Given the description of an element on the screen output the (x, y) to click on. 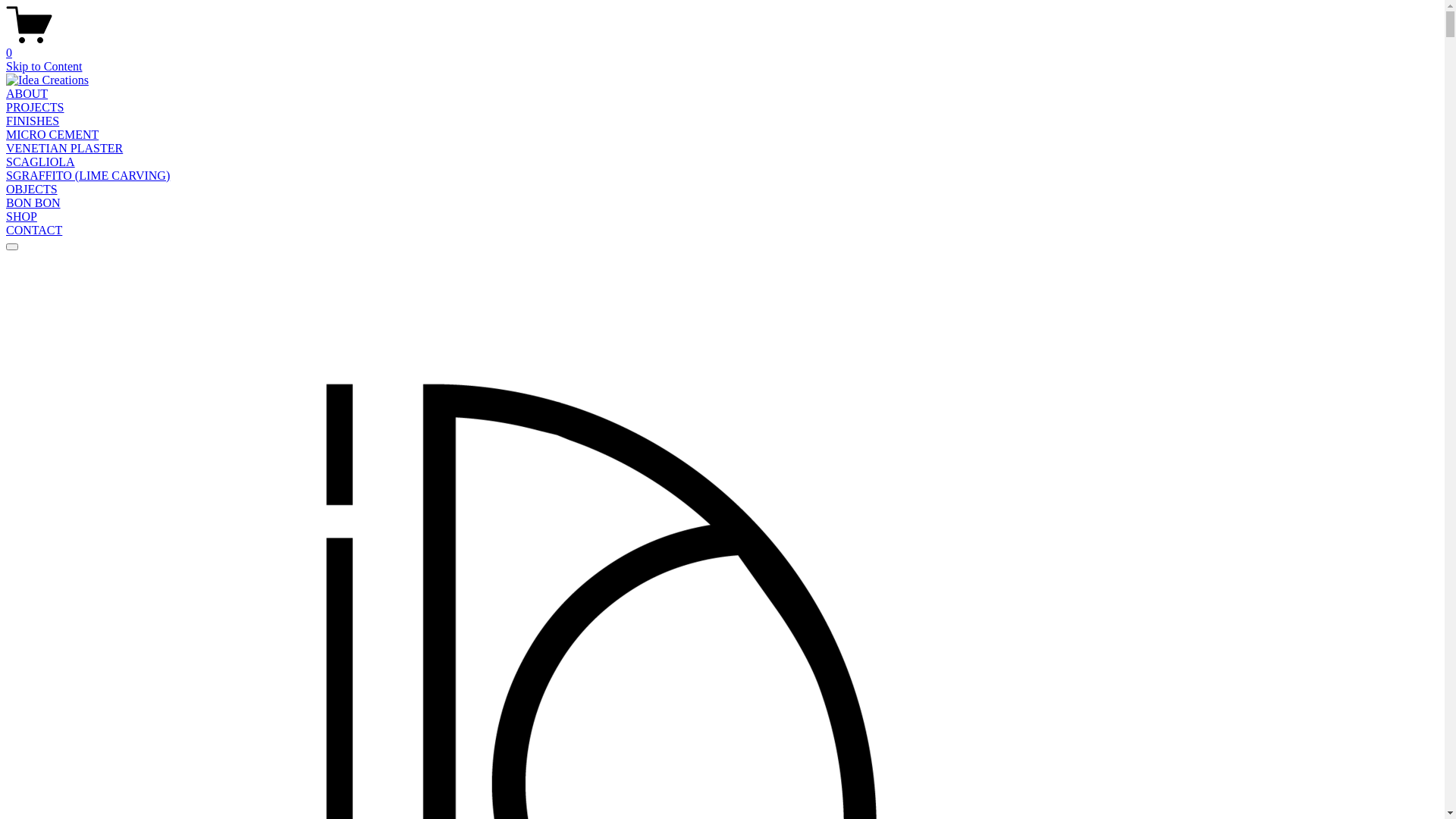
SHOP Element type: text (21, 216)
BON BON Element type: text (33, 202)
MICRO CEMENT Element type: text (52, 134)
0 Element type: text (722, 45)
FINISHES Element type: text (32, 120)
PROJECTS Element type: text (34, 106)
OBJECTS Element type: text (31, 188)
SGRAFFITO (LIME CARVING) Element type: text (87, 175)
VENETIAN PLASTER Element type: text (64, 147)
SCAGLIOLA Element type: text (40, 161)
ABOUT Element type: text (26, 93)
CONTACT Element type: text (34, 229)
Skip to Content Element type: text (43, 65)
